Given the description of an element on the screen output the (x, y) to click on. 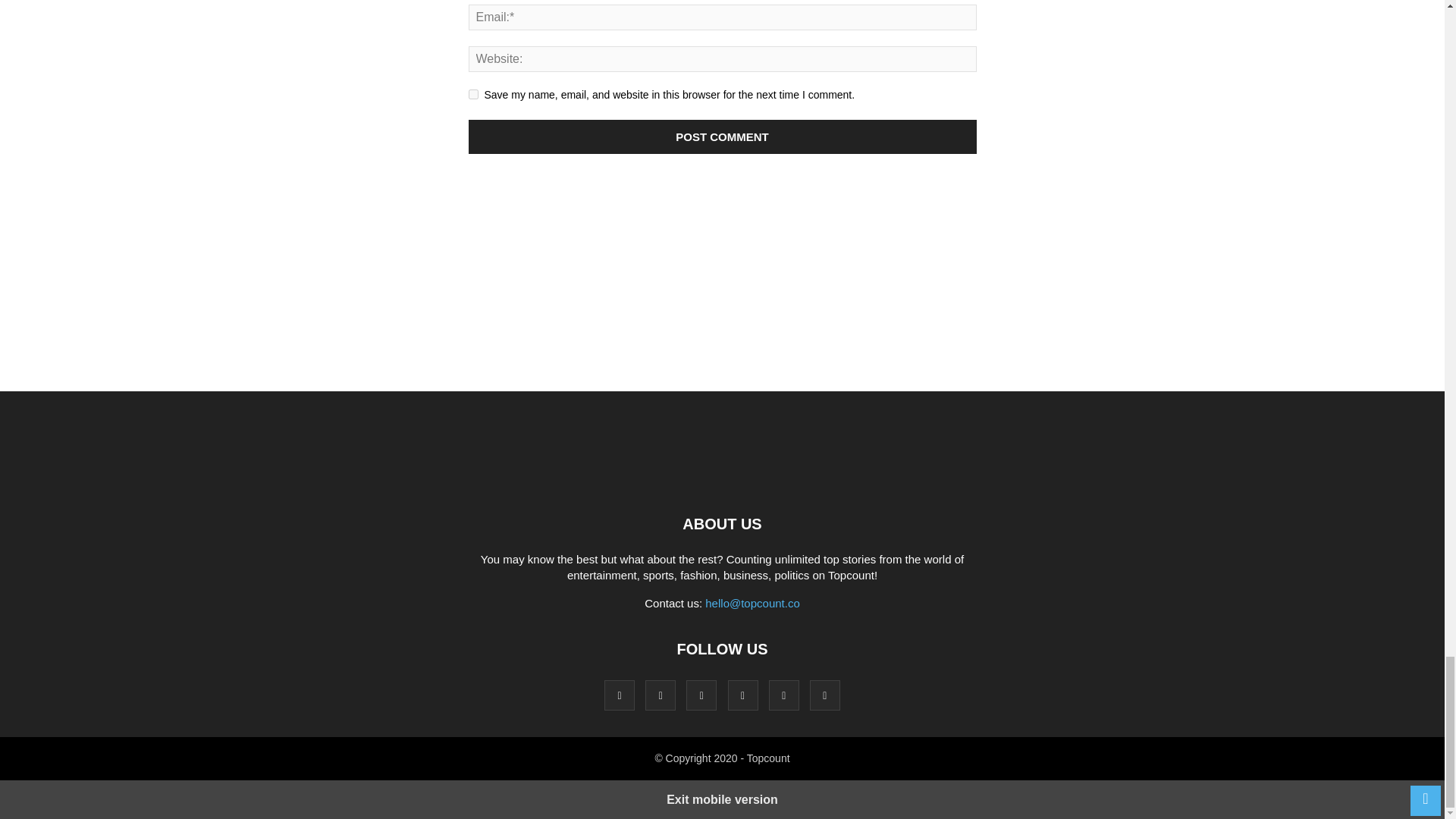
yes (473, 94)
Post Comment (722, 136)
